Given the description of an element on the screen output the (x, y) to click on. 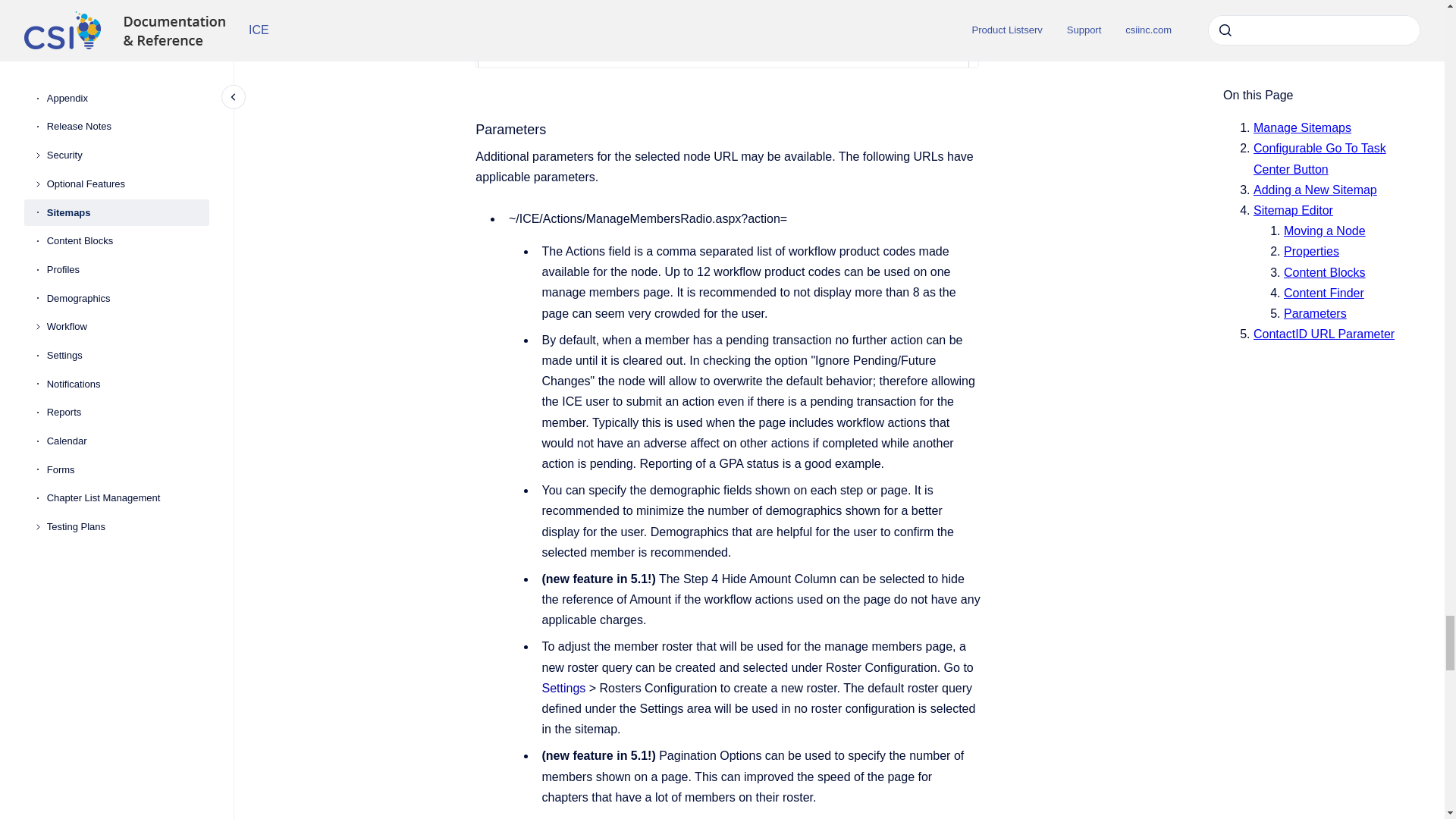
Copy to clipboard (468, 128)
